Given the description of an element on the screen output the (x, y) to click on. 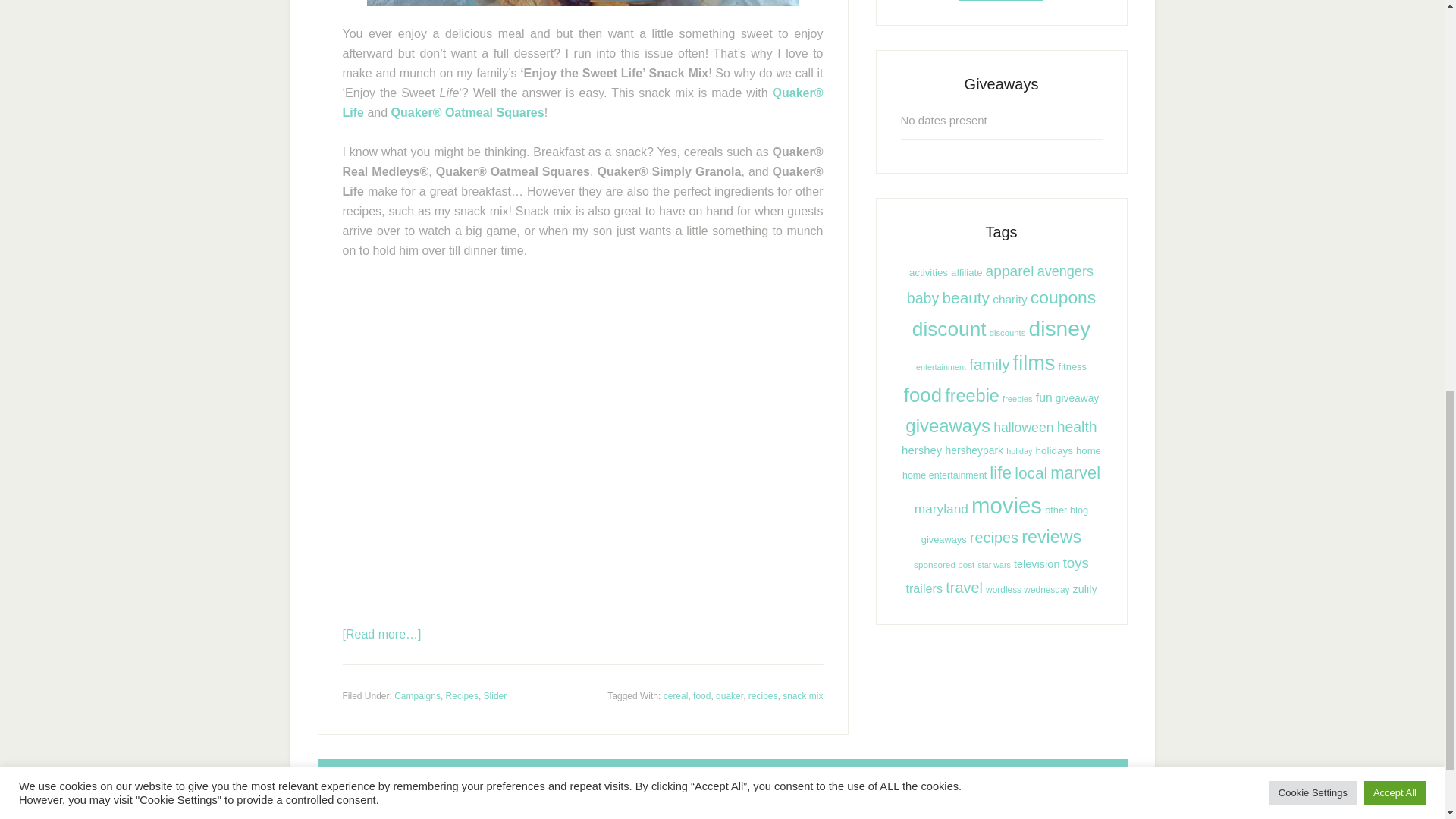
Slider (494, 695)
Recipes (462, 695)
quaker (729, 695)
snack mix (802, 695)
affiliate (965, 272)
activities (927, 272)
Campaigns (417, 695)
recipes (762, 695)
cereal (675, 695)
food (701, 695)
